Given the description of an element on the screen output the (x, y) to click on. 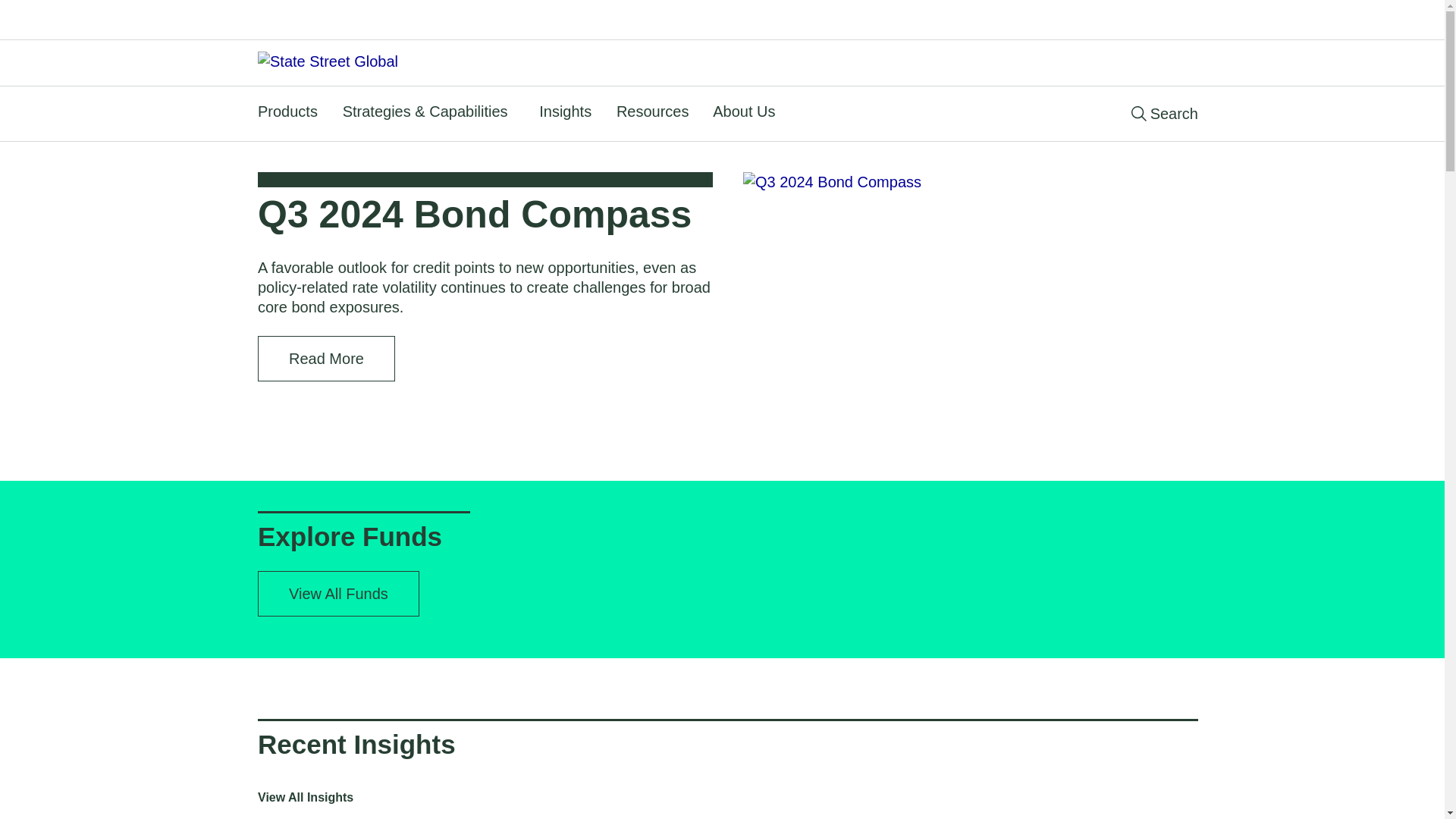
Insights (567, 111)
Resources (654, 111)
About Us (746, 111)
Products (290, 111)
Read More (325, 357)
View All Insights (305, 797)
Search (1164, 112)
View All Funds (338, 593)
